Given the description of an element on the screen output the (x, y) to click on. 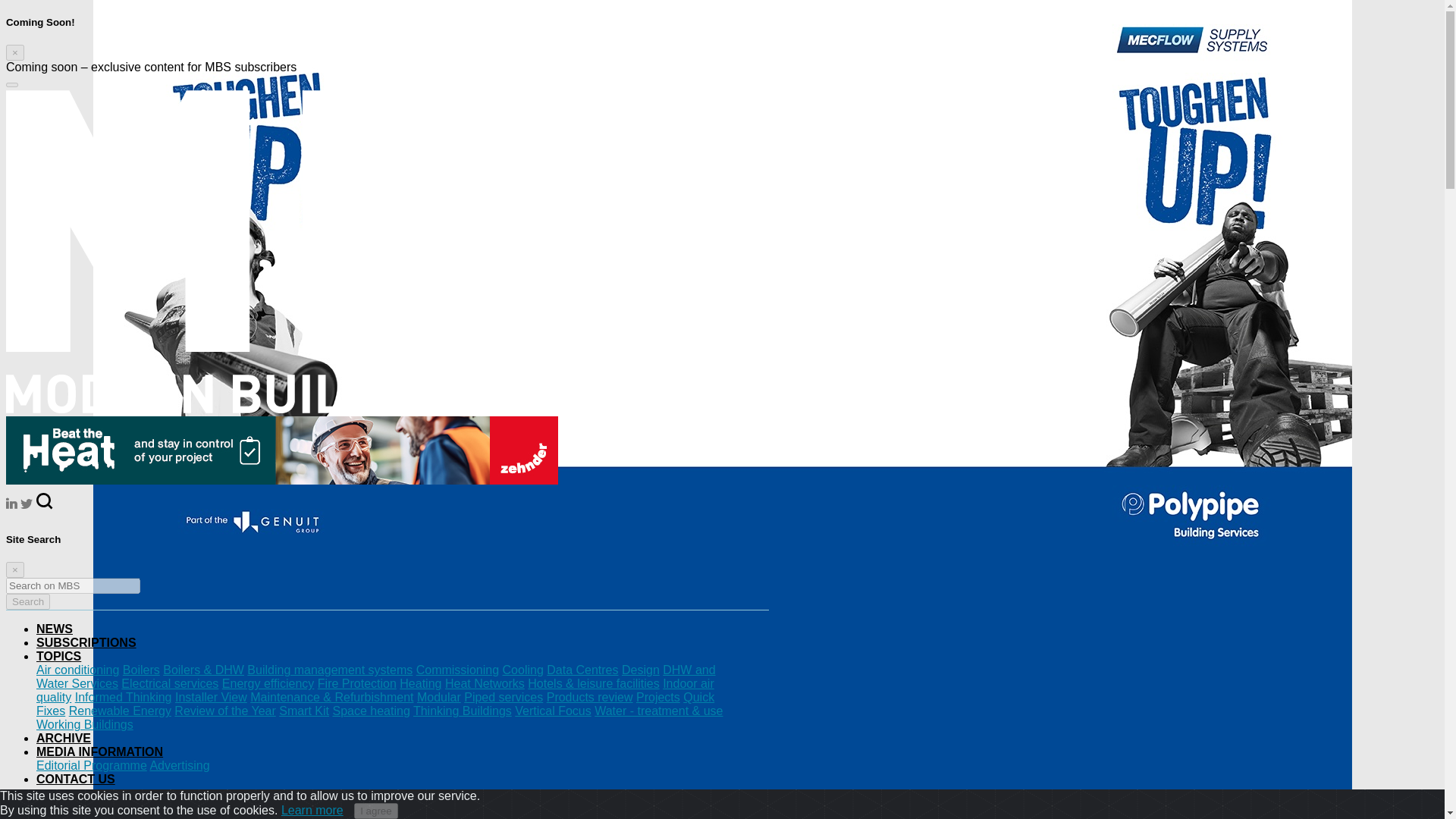
Renewable Energy (119, 710)
Projects (657, 697)
DHW and Water Services (376, 676)
Energy efficiency (268, 683)
Informed Thinking (123, 697)
Design (640, 669)
Piped services (503, 697)
Heat Networks (484, 683)
Modular (438, 697)
Search (27, 601)
Products review (590, 697)
Heating (419, 683)
Smart Kit (304, 710)
Indoor air quality (375, 690)
Cooling (522, 669)
